Given the description of an element on the screen output the (x, y) to click on. 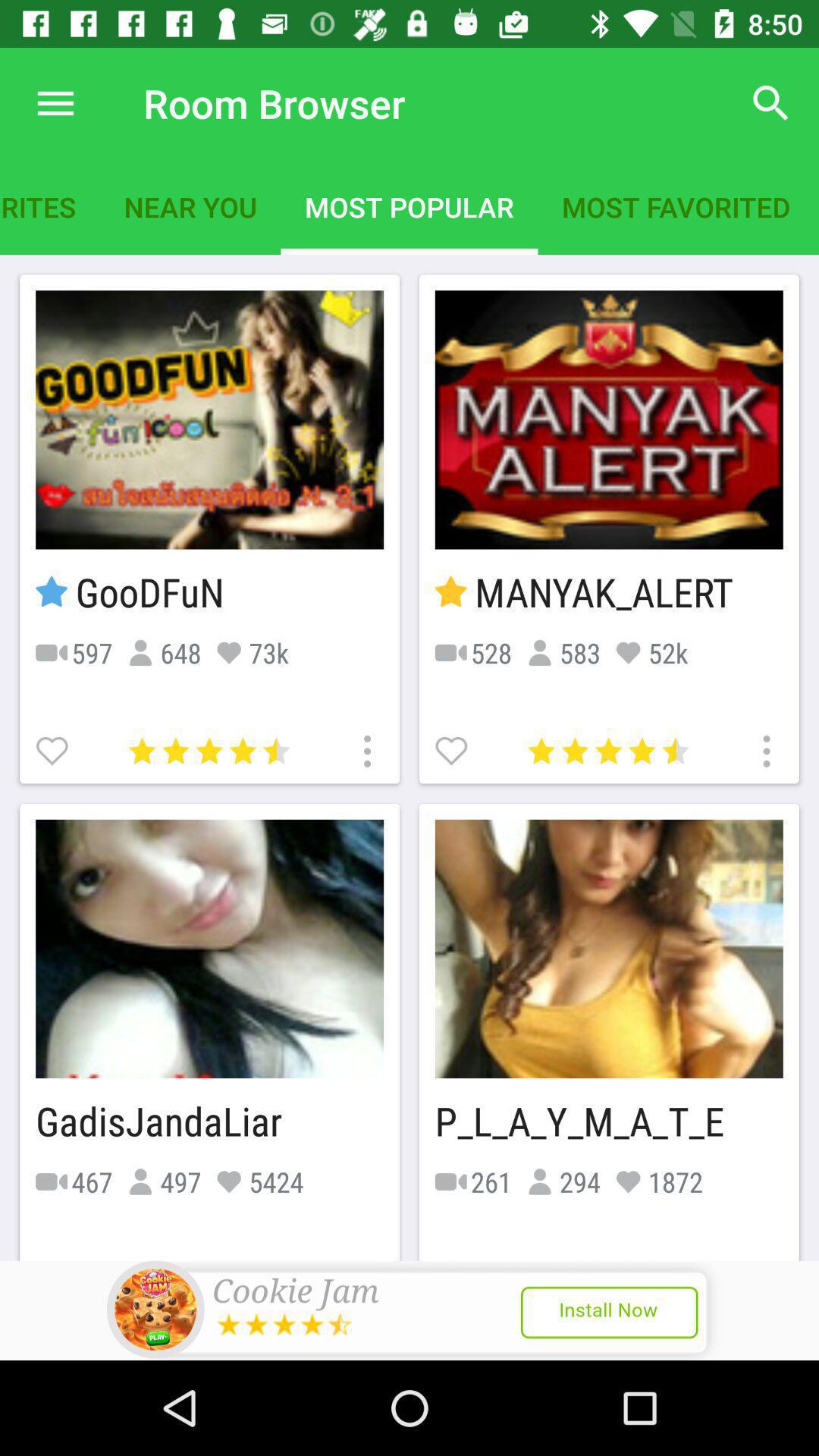
show outside advertisement (409, 1310)
